Given the description of an element on the screen output the (x, y) to click on. 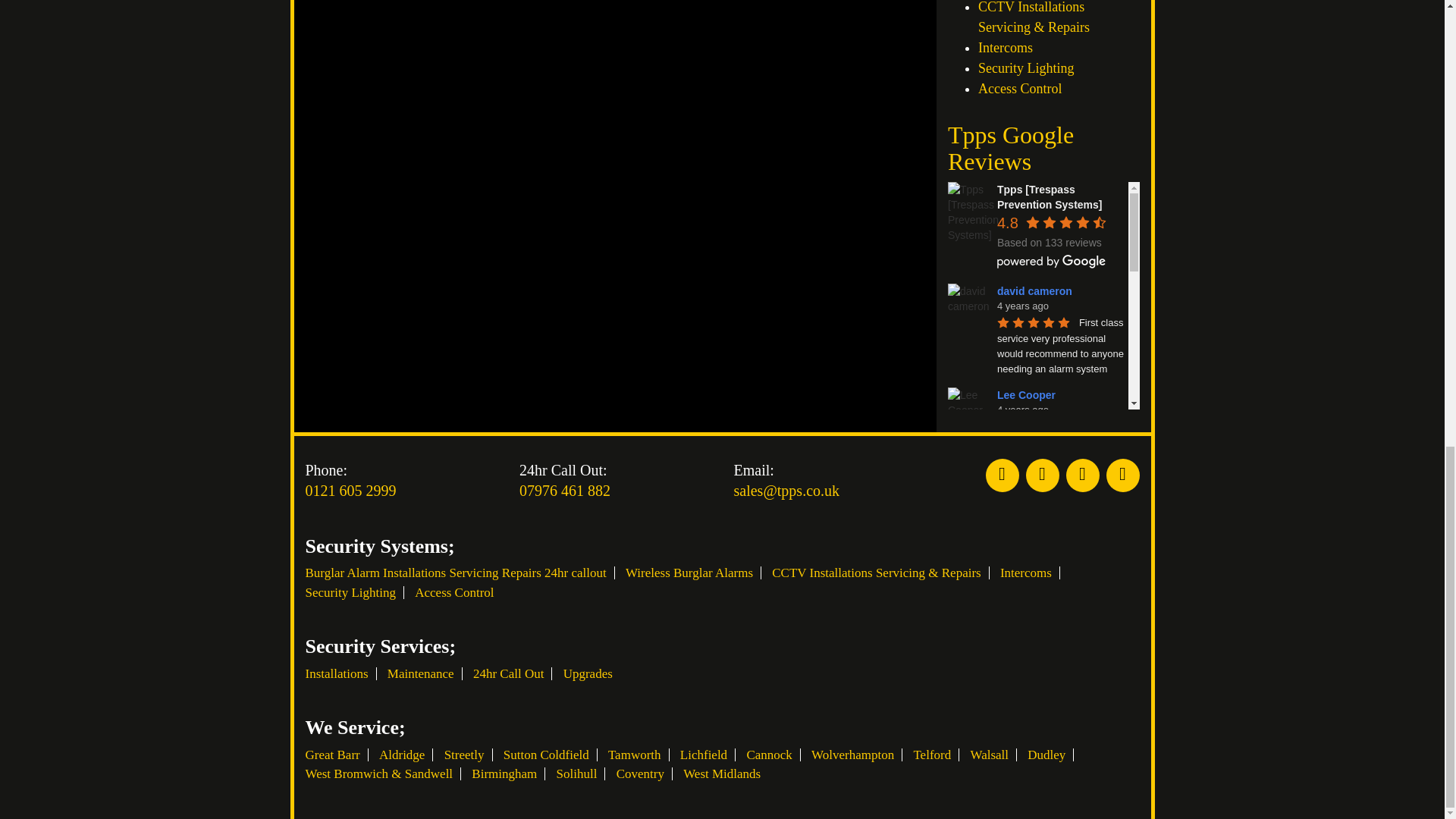
david cameron (966, 302)
Lee Cooper (966, 406)
Steve Stonehouse (966, 616)
powered by Google (1051, 261)
